Given the description of an element on the screen output the (x, y) to click on. 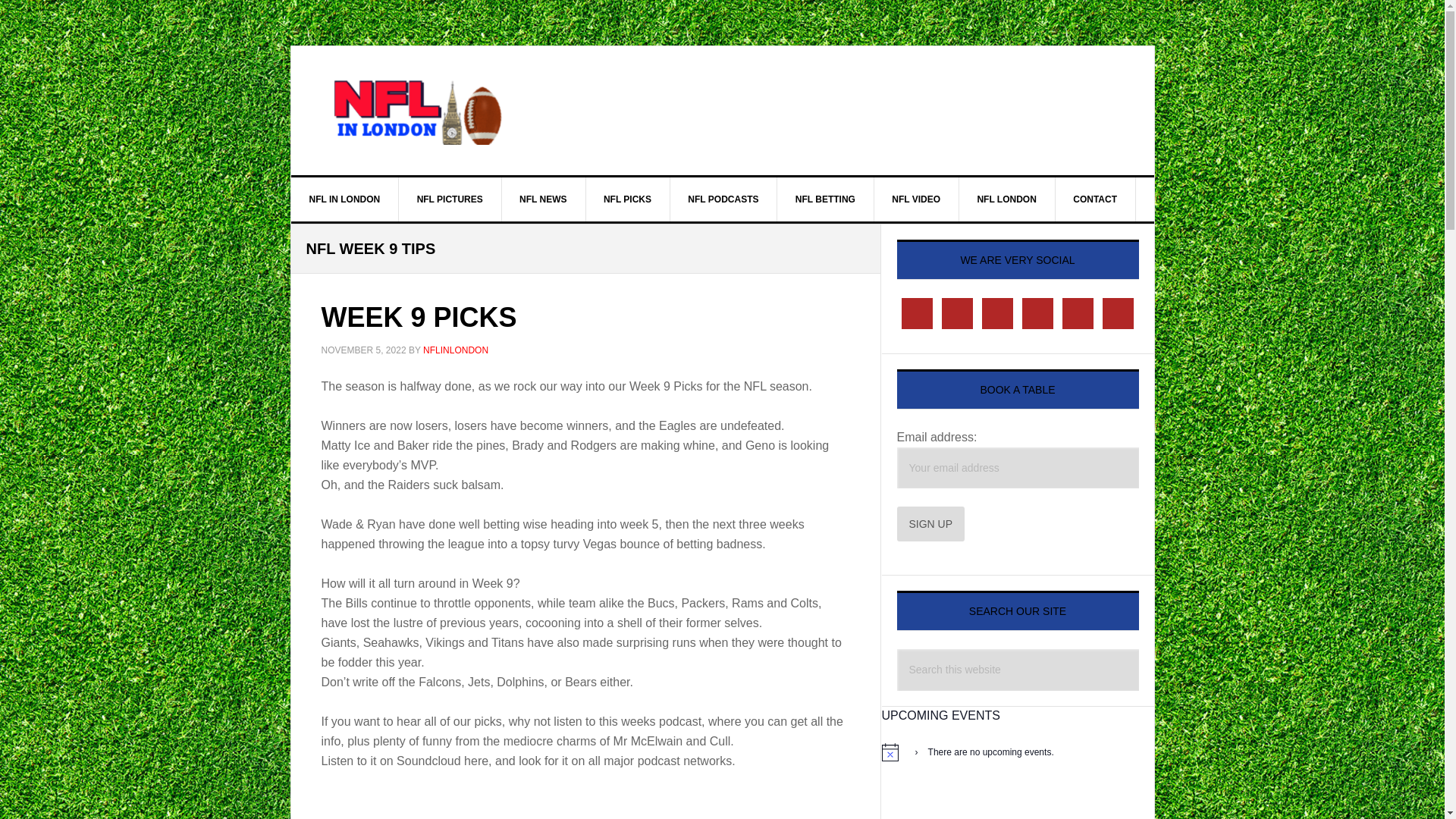
NFL VIDEO (916, 199)
WEEK 9 PICKS (418, 317)
NFL NEWS (542, 199)
NFL IN LONDON (344, 199)
NFLINLONDON (455, 349)
Sign up (929, 523)
NFL BETTING (826, 199)
NFL PICKS (627, 199)
NFL PODCASTS (723, 199)
